Given the description of an element on the screen output the (x, y) to click on. 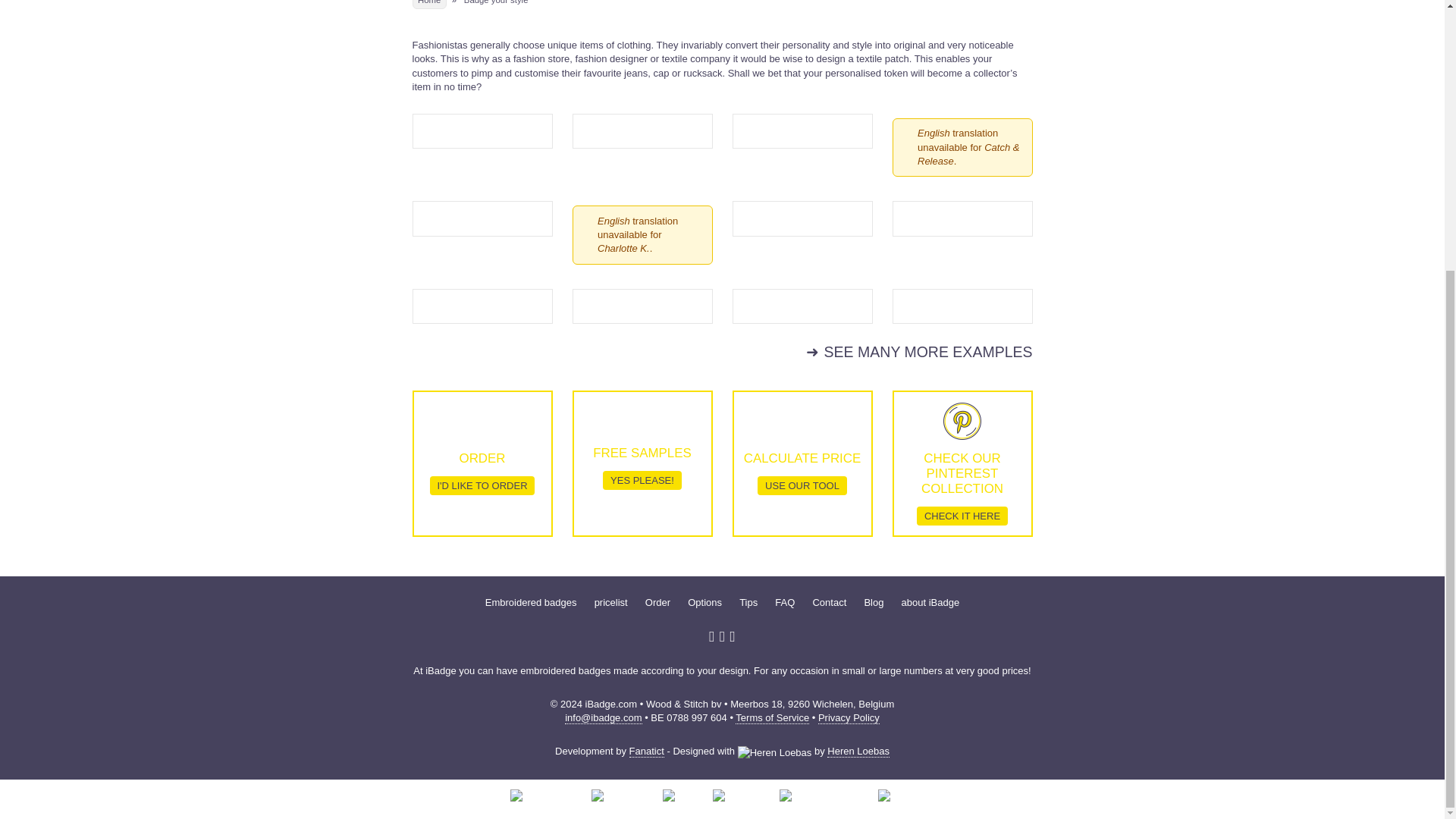
SEE MANY MORE EXAMPLES (919, 351)
I'D LIKE TO ORDER (482, 485)
Home (429, 4)
USE OUR TOOL (801, 485)
YES PLEASE! (641, 479)
